Given the description of an element on the screen output the (x, y) to click on. 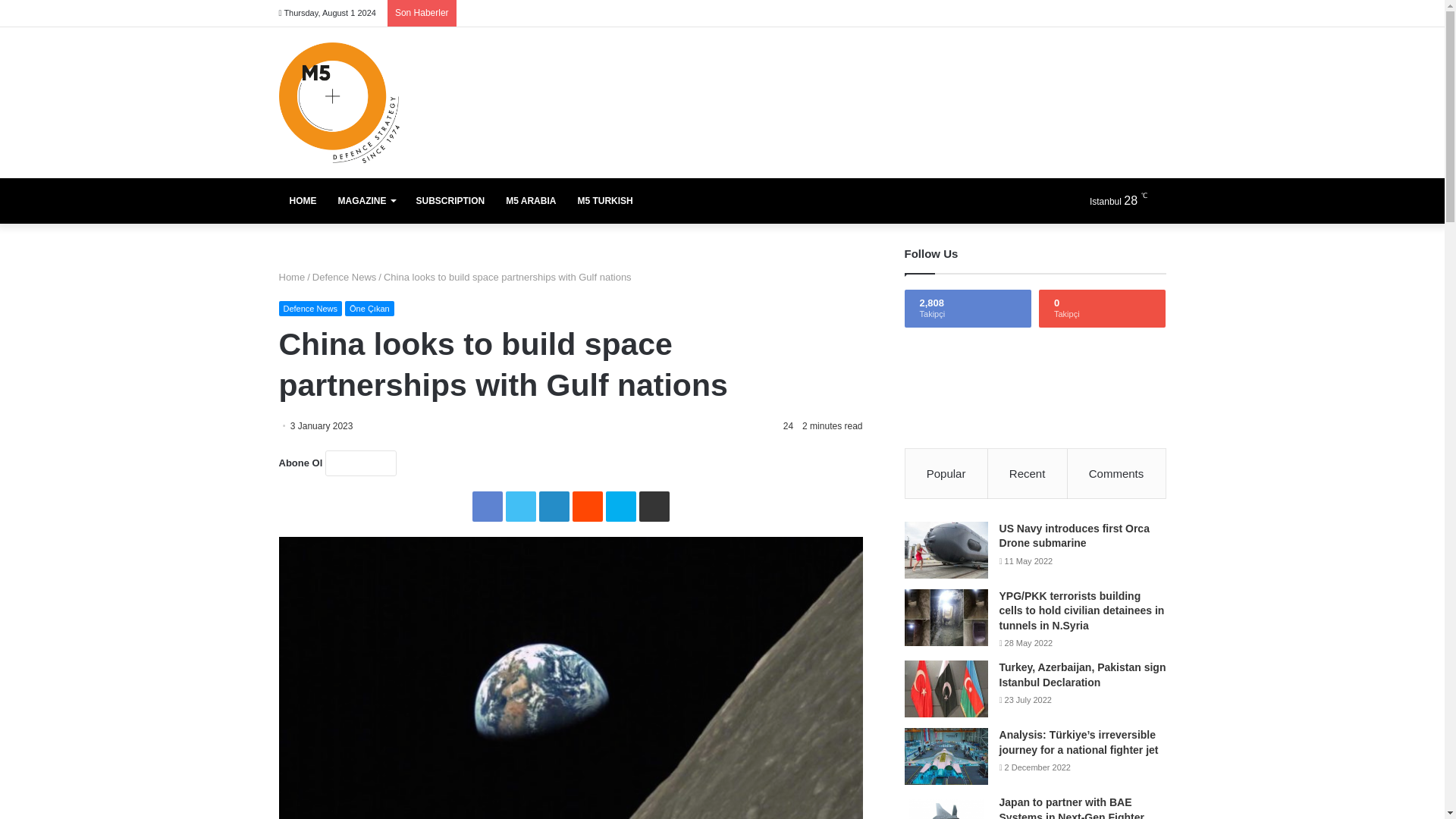
Facebook (486, 506)
Defence News (310, 308)
Twitter (520, 506)
LinkedIn (553, 506)
M5 ARABIA (530, 200)
Reddit (587, 506)
Home (292, 276)
MAGAZINE (366, 200)
Scattered Clouds (1125, 199)
Skype (619, 506)
